Given the description of an element on the screen output the (x, y) to click on. 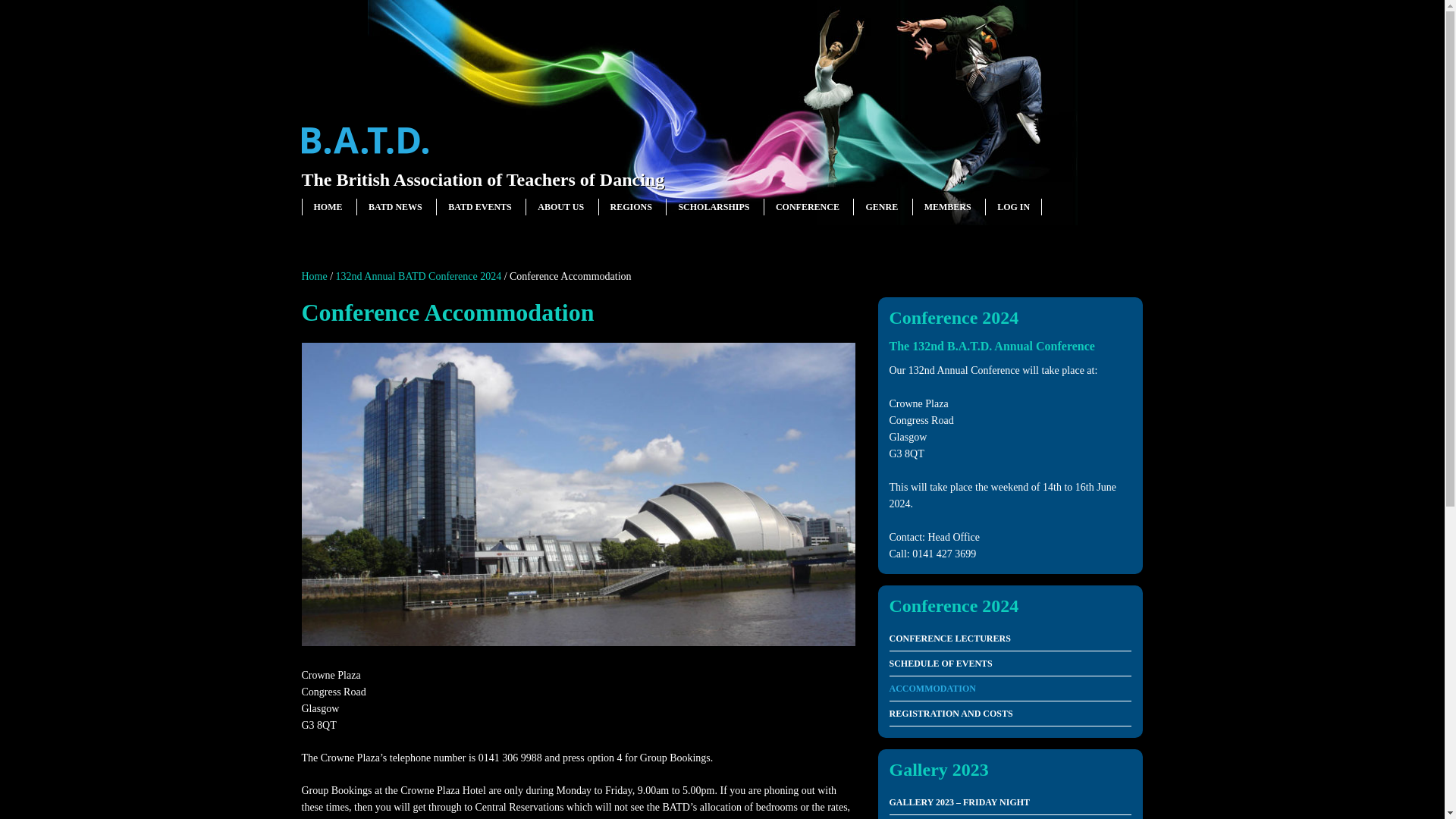
GENRE (881, 206)
SCHOLARSHIPS (713, 206)
REGISTRATION AND COSTS (1009, 713)
ABOUT US (560, 206)
ACCOMMODATION (1009, 688)
CONFERENCE (808, 206)
HOME (328, 206)
SCHEDULE OF EVENTS (1009, 663)
BATD NEWS (395, 206)
MEMBERS (947, 206)
LOG IN (1013, 206)
CONFERENCE LECTURERS (1009, 638)
REGIONS (631, 206)
BATD EVENTS (479, 206)
Home (314, 276)
